Given the description of an element on the screen output the (x, y) to click on. 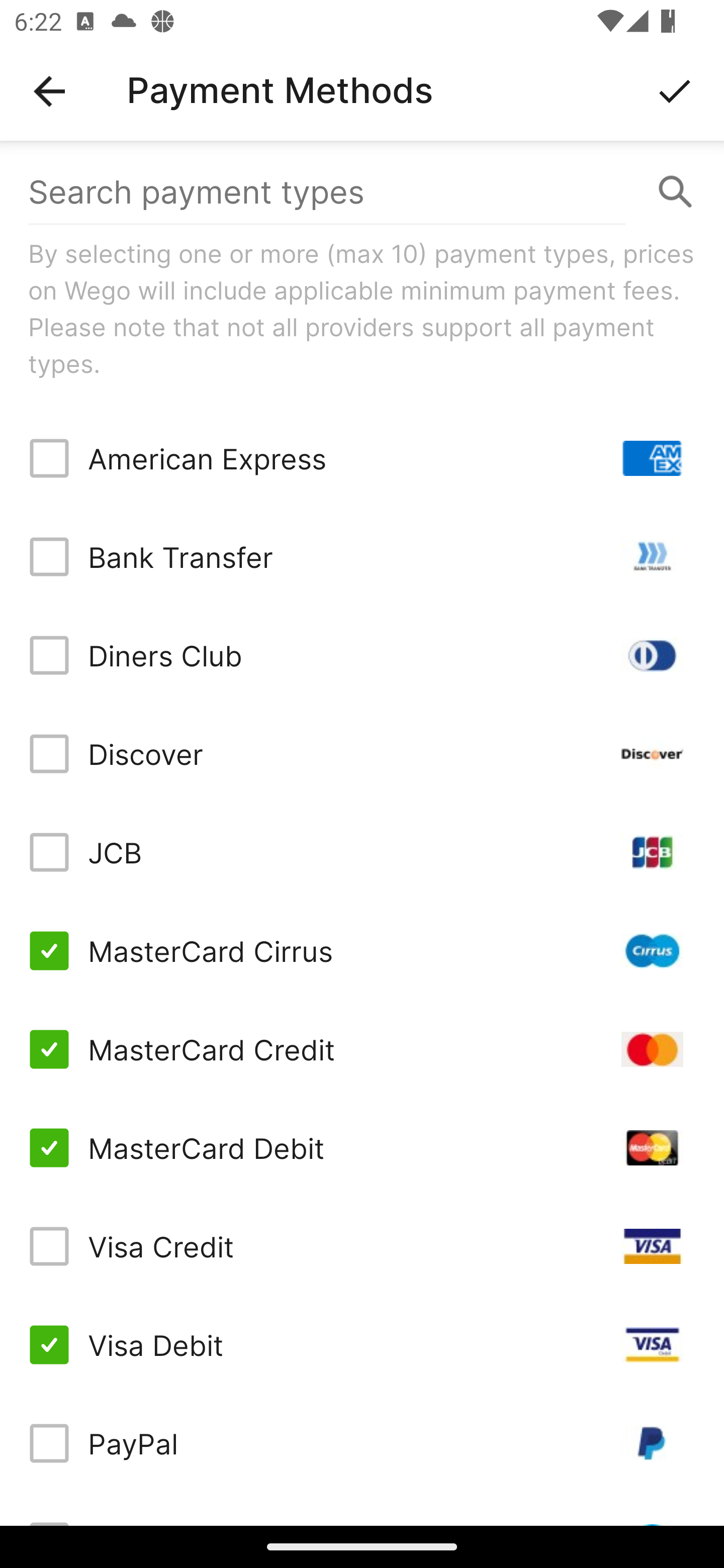
Search payment types  (361, 191)
American Express (362, 458)
Bank Transfer (362, 557)
Diners Club (362, 655)
Discover (362, 753)
JCB (362, 851)
MasterCard Cirrus (362, 950)
MasterCard Credit (362, 1049)
MasterCard Debit (362, 1147)
Visa Credit (362, 1245)
Visa Debit (362, 1344)
PayPal (362, 1442)
